Given the description of an element on the screen output the (x, y) to click on. 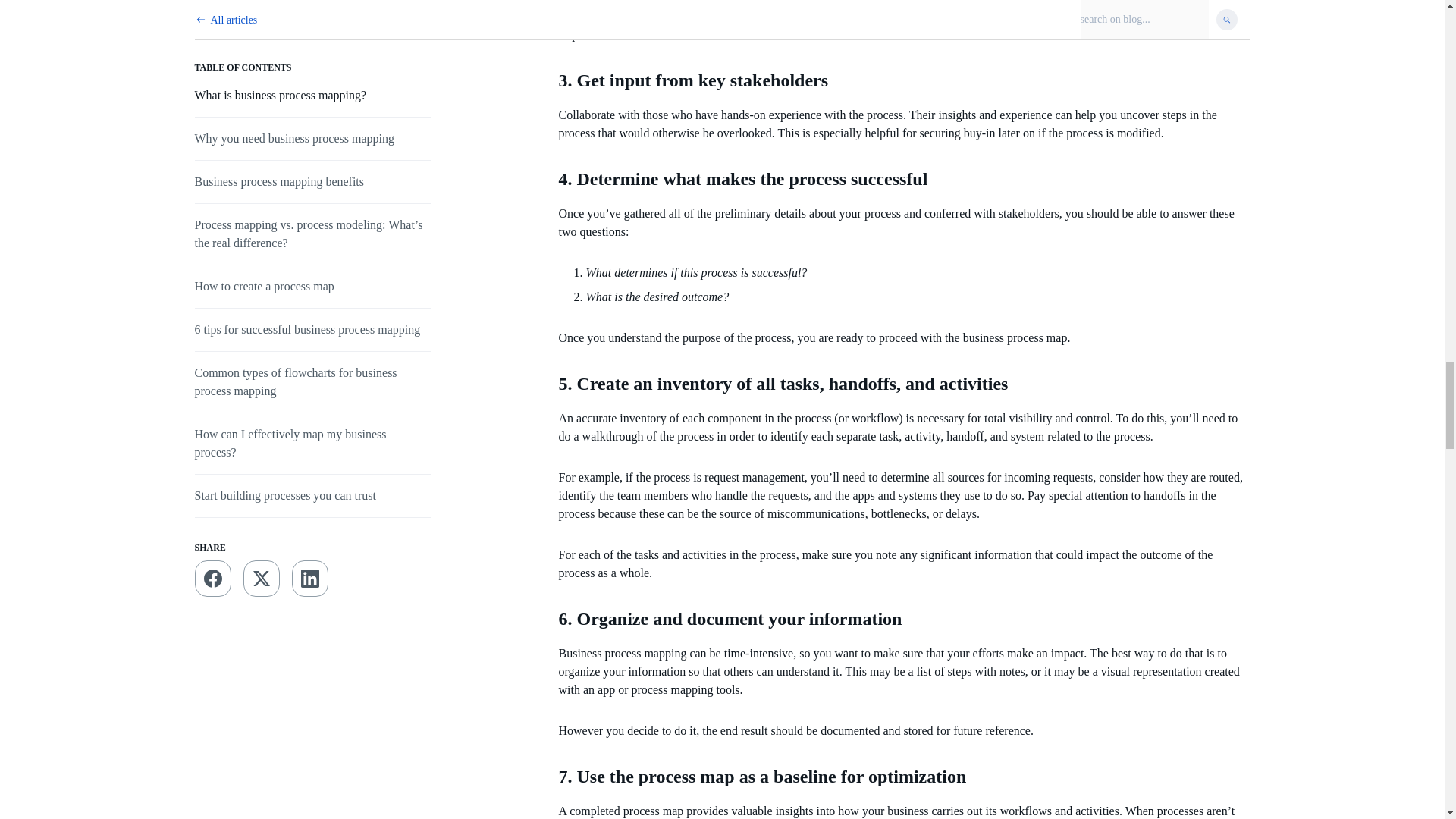
process mapping tools (684, 689)
